Given the description of an element on the screen output the (x, y) to click on. 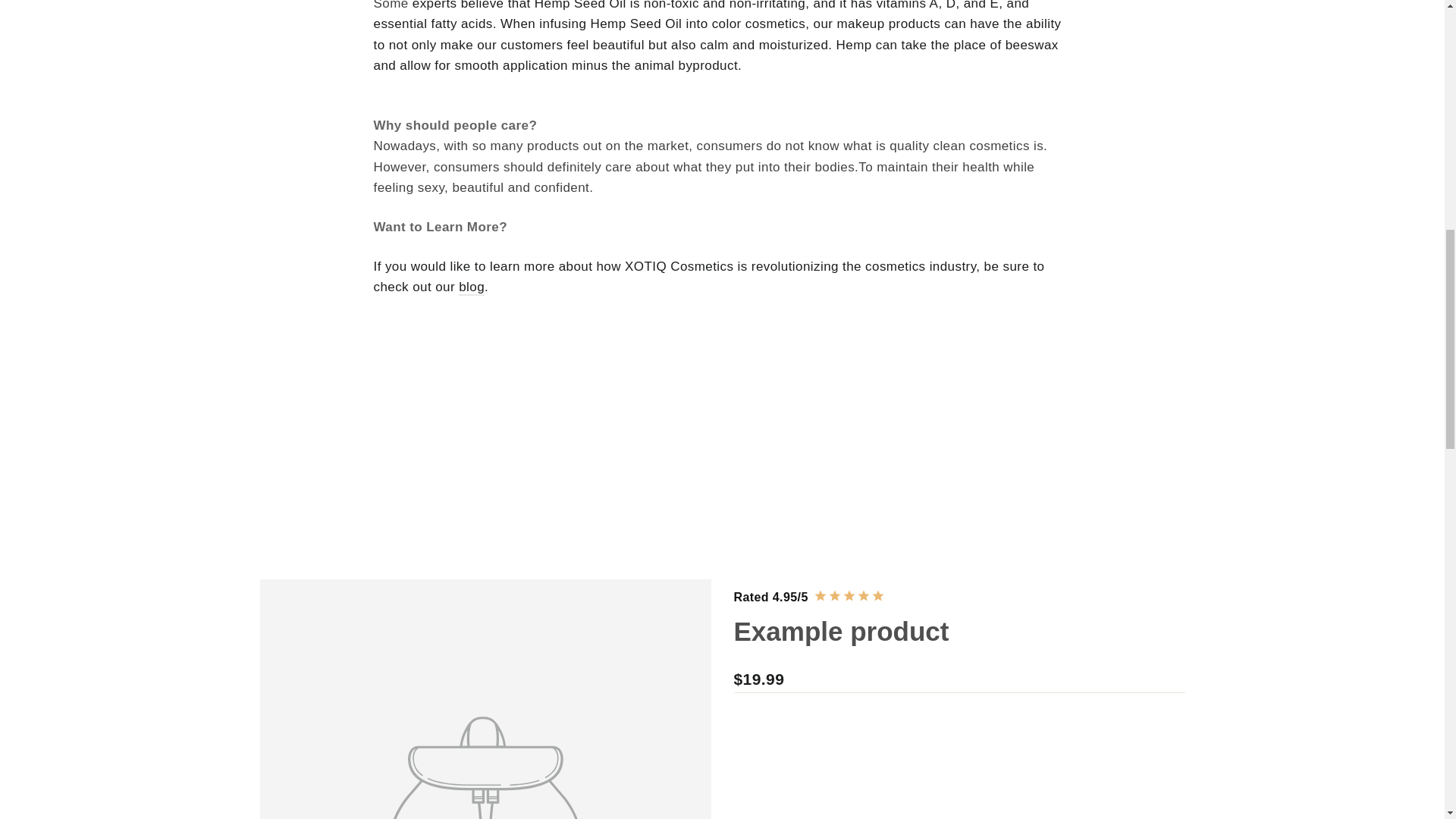
blog (471, 287)
